Given the description of an element on the screen output the (x, y) to click on. 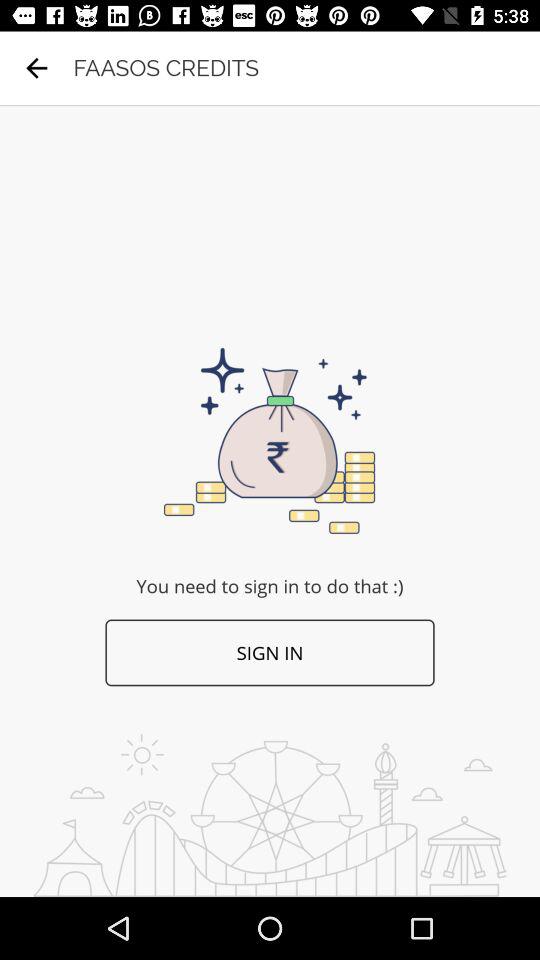
select item next to the faasos credits item (36, 68)
